Given the description of an element on the screen output the (x, y) to click on. 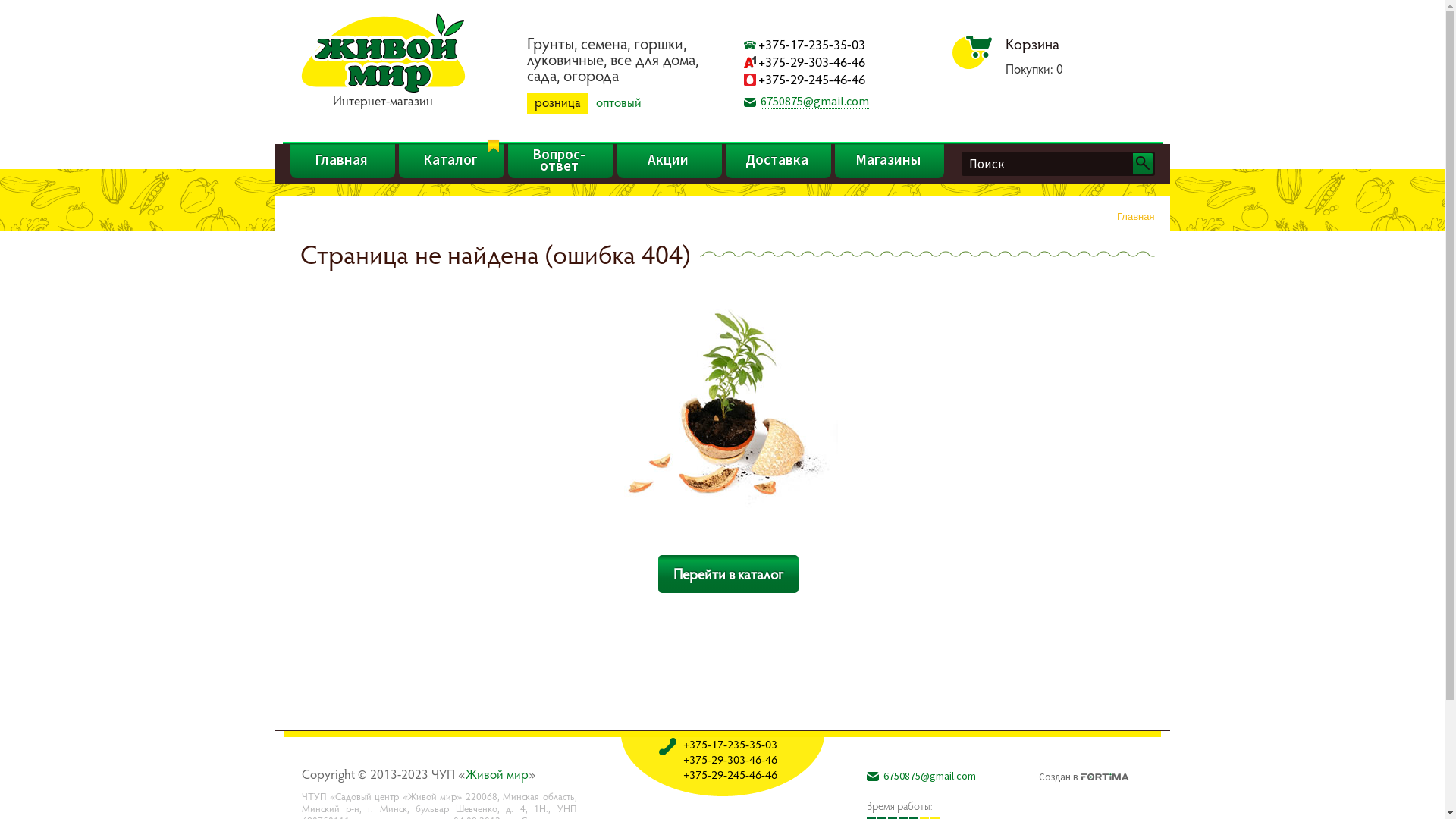
6750875@gmail.com Element type: text (813, 101)
+375-29-245-46-46 Element type: text (729, 773)
+375-29-303-46-46 Element type: text (811, 61)
+375-29-303-46-46 Element type: text (729, 758)
+375-17-235-35-03 Element type: text (729, 743)
+375-29-245-46-46 Element type: text (811, 78)
6750875@gmail.com Element type: text (928, 775)
+375-17-235-35-03 Element type: text (811, 44)
